Given the description of an element on the screen output the (x, y) to click on. 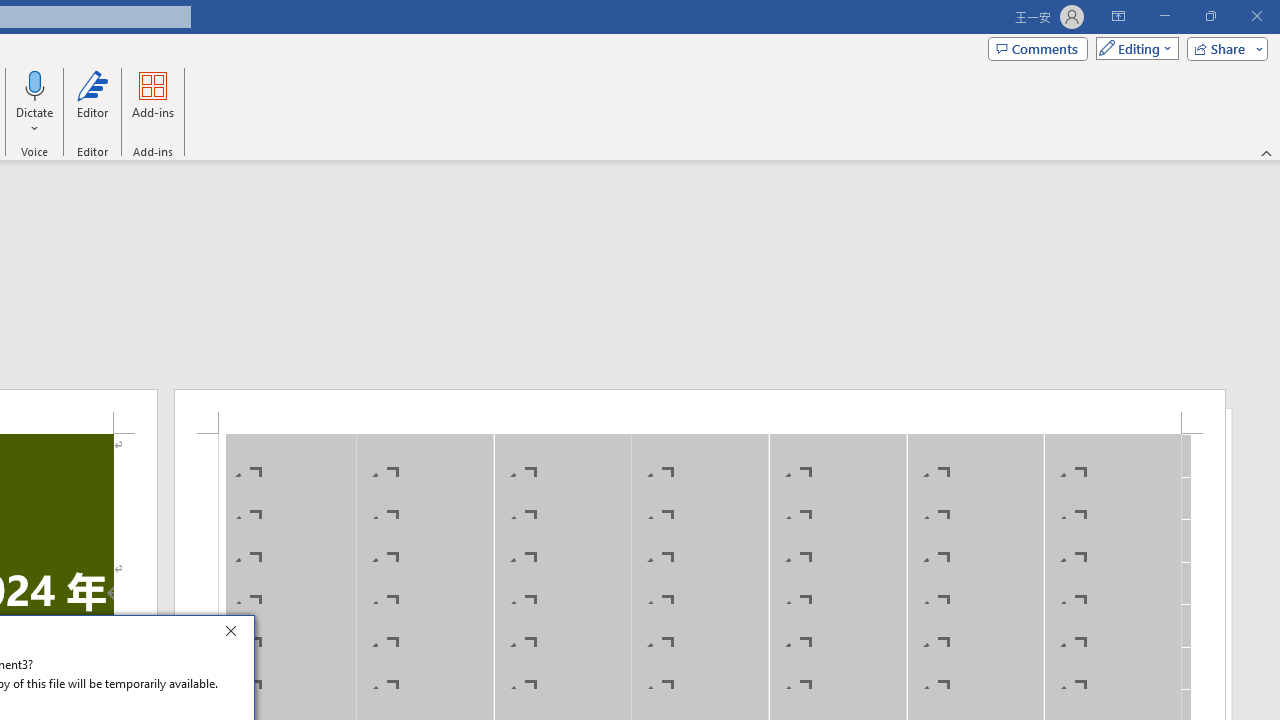
Close (236, 633)
Share (1223, 48)
Dictate (35, 84)
Comments (1038, 48)
Header -Section 1- (700, 411)
Dictate (35, 102)
Mode (1133, 47)
Restore Down (1210, 16)
Ribbon Display Options (1118, 16)
Editor (92, 102)
Minimize (1164, 16)
